Given the description of an element on the screen output the (x, y) to click on. 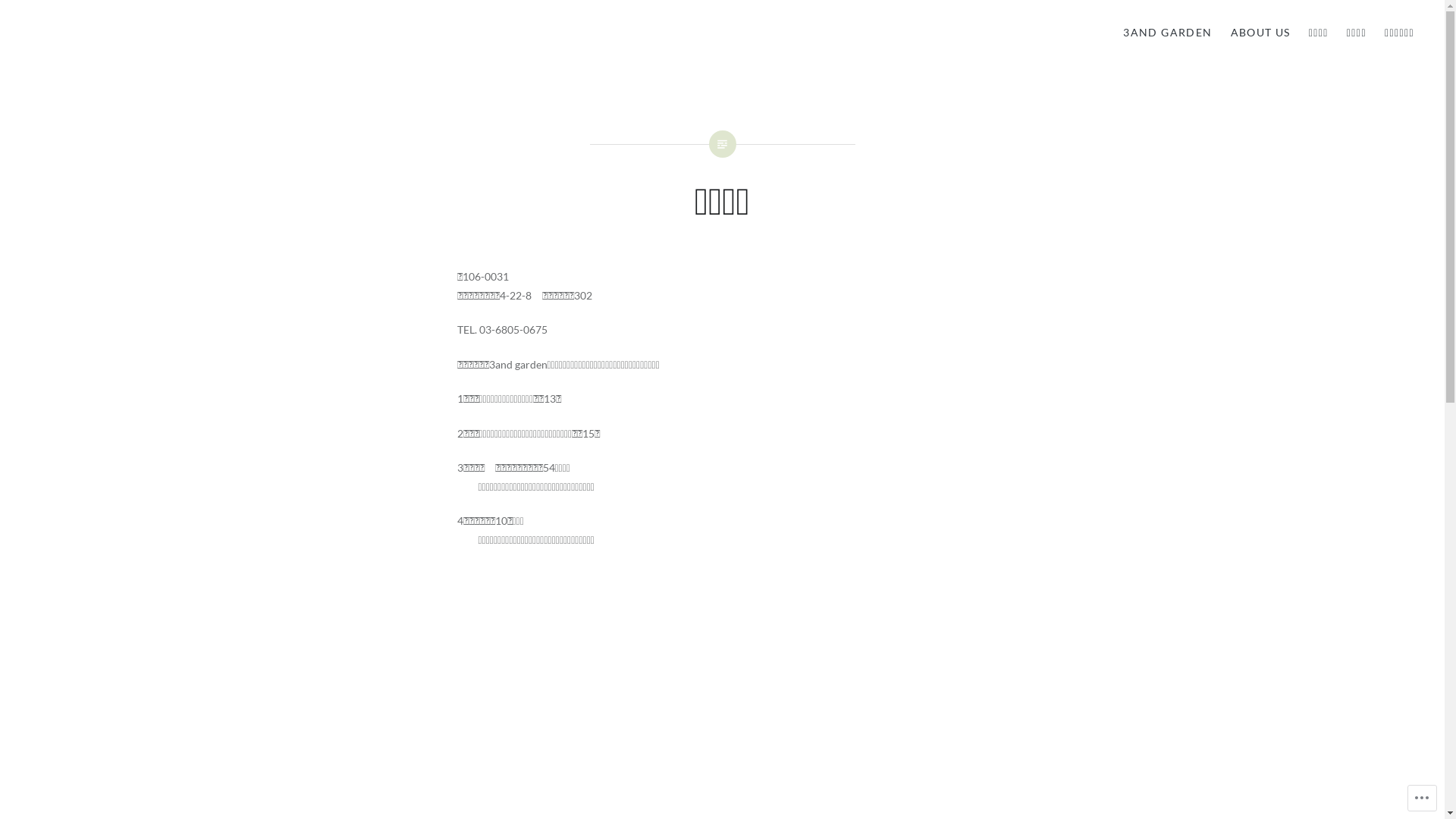
3AND GARDEN Element type: text (1167, 32)
3and garden Element type: text (101, 46)
ABOUT US Element type: text (1260, 32)
